Given the description of an element on the screen output the (x, y) to click on. 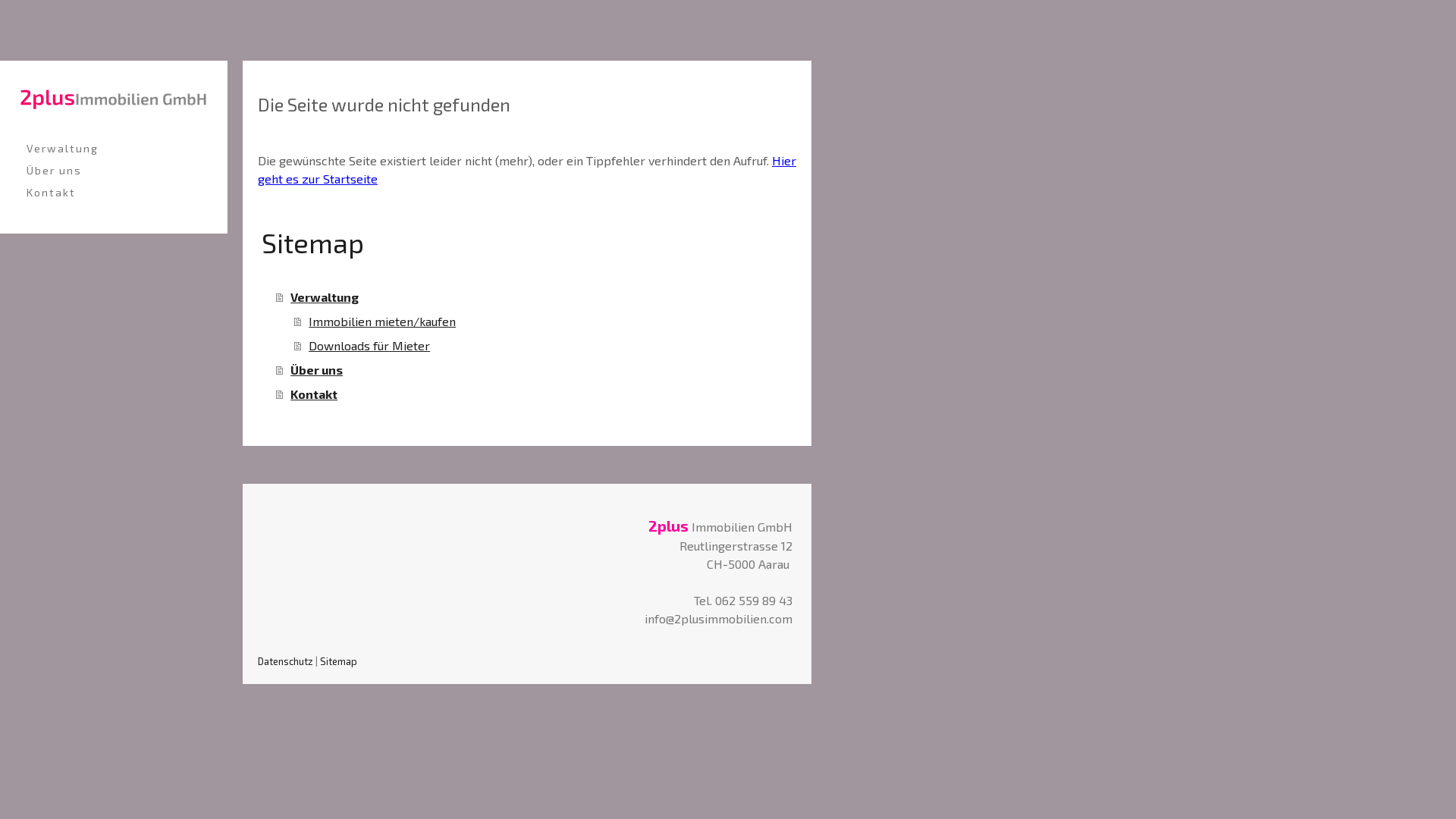
Verwaltung Element type: text (113, 148)
Kontakt Element type: text (113, 192)
Verwaltung Element type: text (536, 297)
Sitemap Element type: text (338, 661)
Kontakt Element type: text (536, 394)
Immobilien mieten/kaufen Element type: text (545, 321)
Hier geht es zur Startseite Element type: text (526, 169)
Datenschutz Element type: text (285, 661)
